Given the description of an element on the screen output the (x, y) to click on. 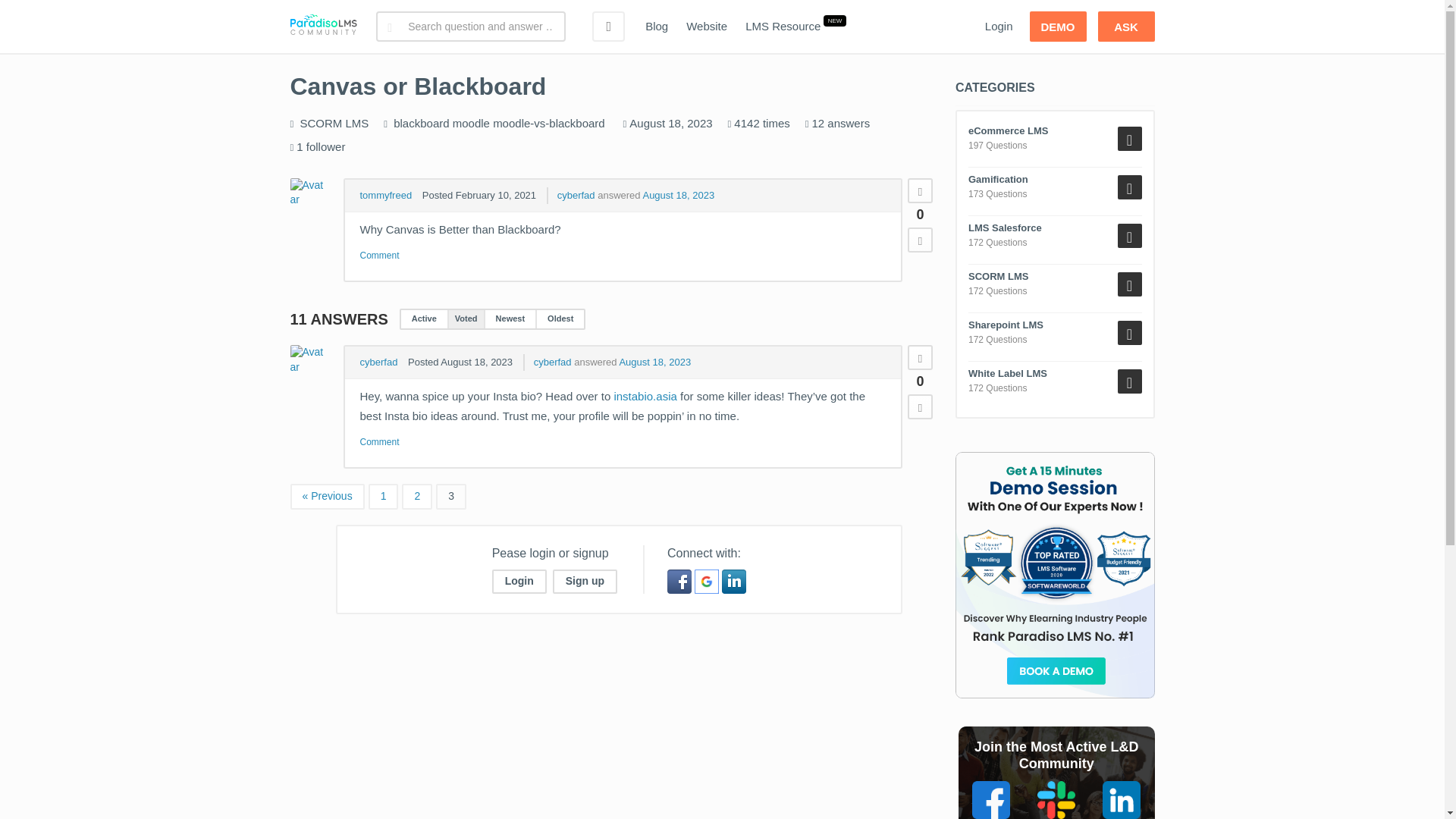
Search for: (470, 26)
Website (706, 26)
moodle-vs-blackboard (549, 123)
Down vote this post (920, 239)
Up vote this post (920, 357)
Active (423, 318)
All you need to know or ask about SCORM (333, 123)
Comment (378, 255)
Up vote this post (920, 190)
tommyfreed (385, 194)
Blog (656, 26)
Blog (656, 26)
August 18, 2023 (678, 194)
moodle (470, 123)
Comments (378, 255)
